Given the description of an element on the screen output the (x, y) to click on. 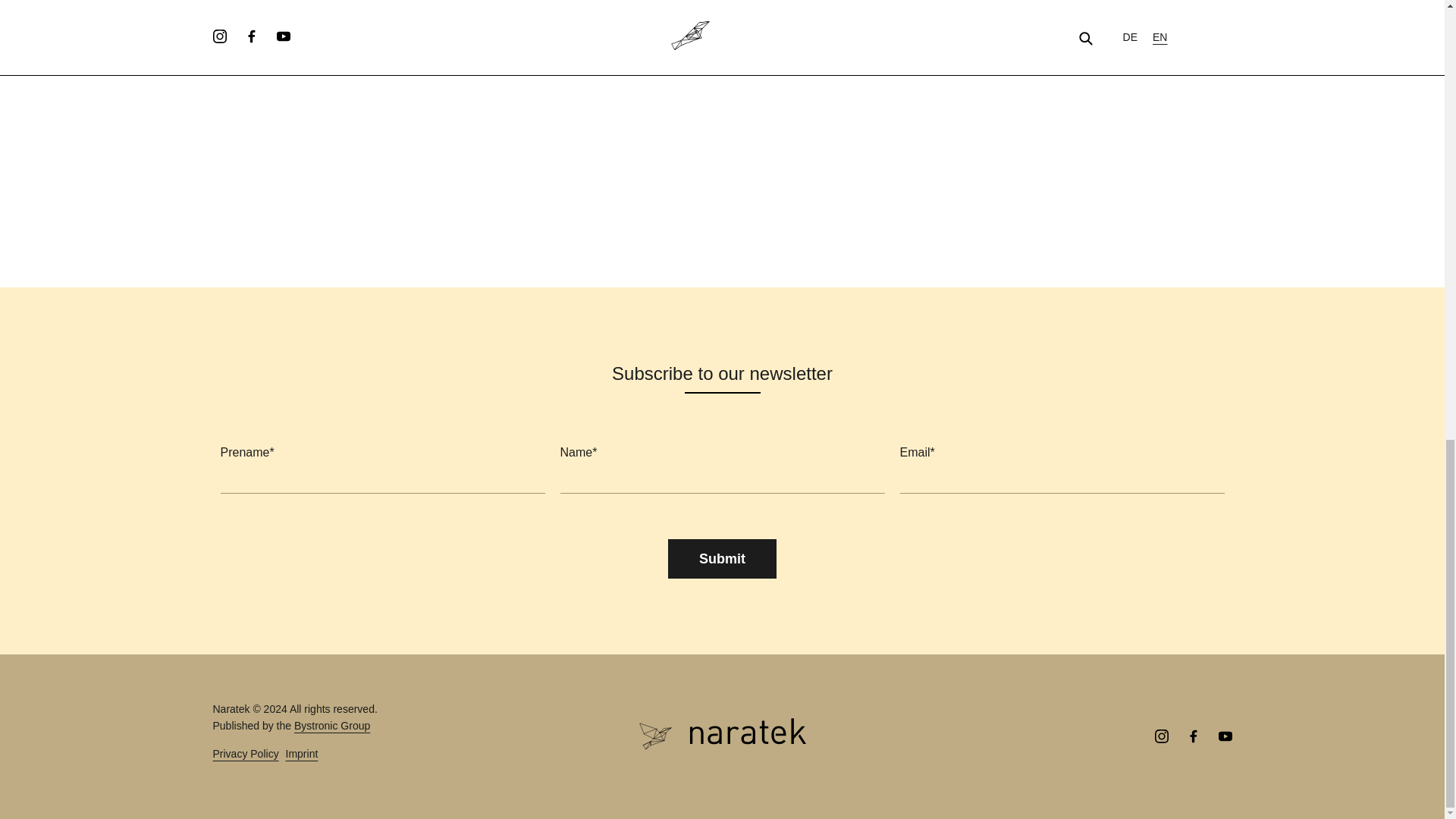
Submit (722, 558)
Submit (722, 558)
Imprint (301, 753)
Youtube (1224, 736)
Privacy Policy (245, 753)
Facebook (1192, 736)
Bystronic Group (331, 725)
Instagram (1160, 736)
